Given the description of an element on the screen output the (x, y) to click on. 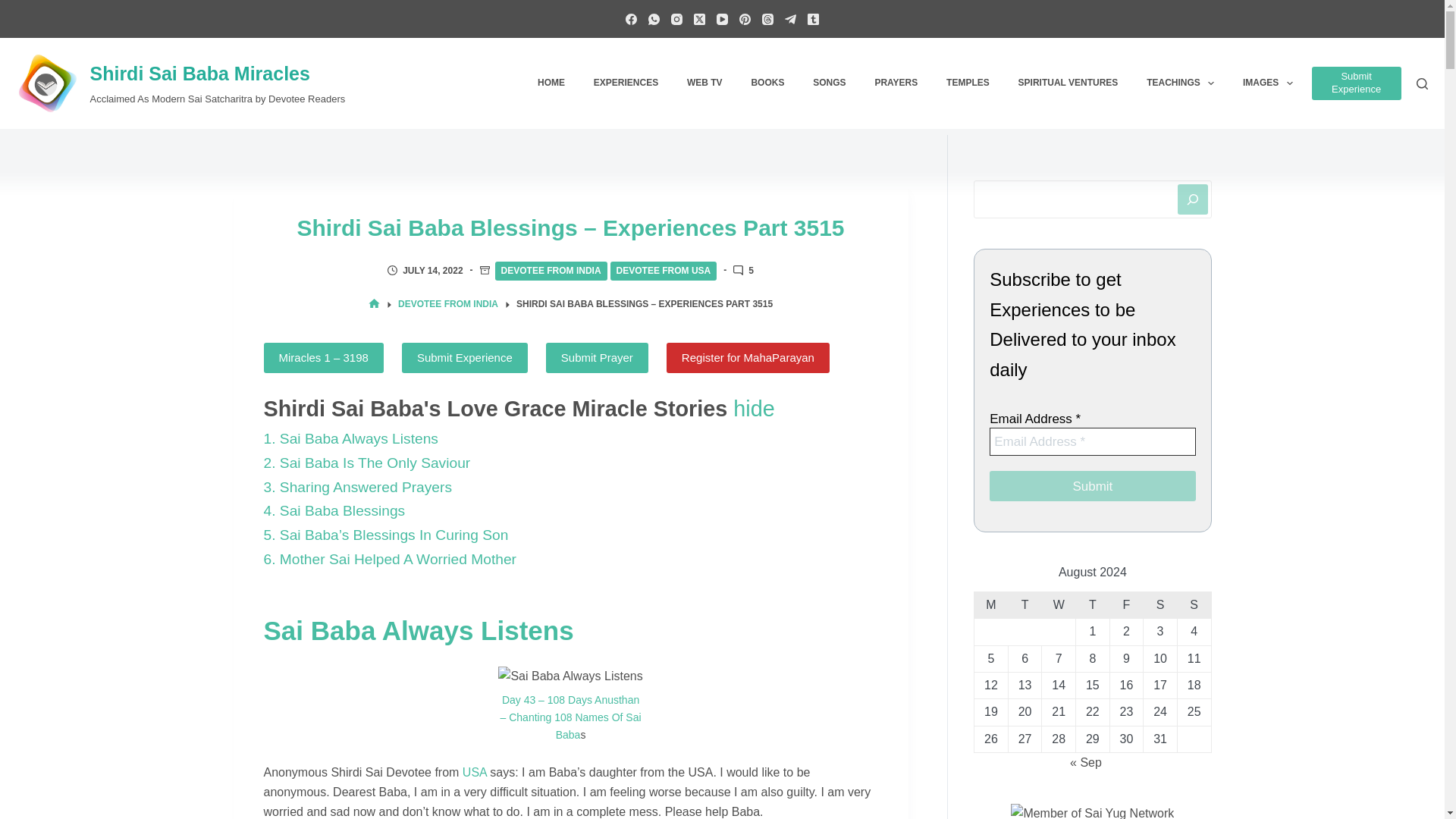
Wednesday (1058, 604)
Sunday (1193, 604)
Friday (1125, 604)
Skip to content (15, 7)
Shirdi Sai Baba Miracles (198, 73)
SPIRITUAL VENTURES (1068, 82)
Email Address (1092, 441)
Monday (991, 604)
Thursday (1092, 604)
Submit (1092, 485)
